Given the description of an element on the screen output the (x, y) to click on. 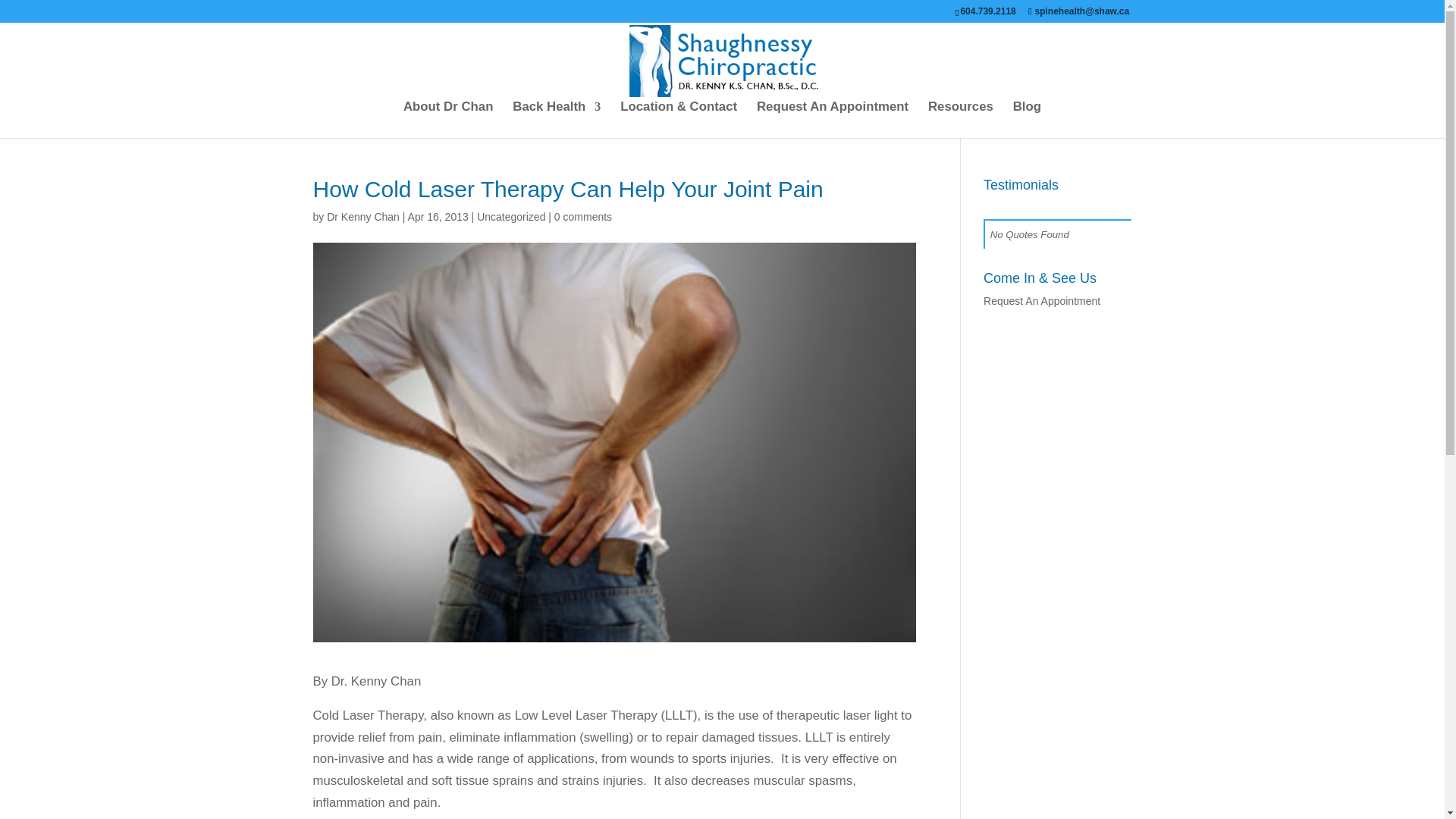
Resources (960, 119)
Uncategorized (510, 216)
Back Health (555, 119)
About Dr Chan (448, 119)
Request An Appointment (832, 119)
Posts by Dr Kenny Chan (362, 216)
0 comments (582, 216)
Dr Kenny Chan (362, 216)
Request An Appointment (1042, 300)
